Given the description of an element on the screen output the (x, y) to click on. 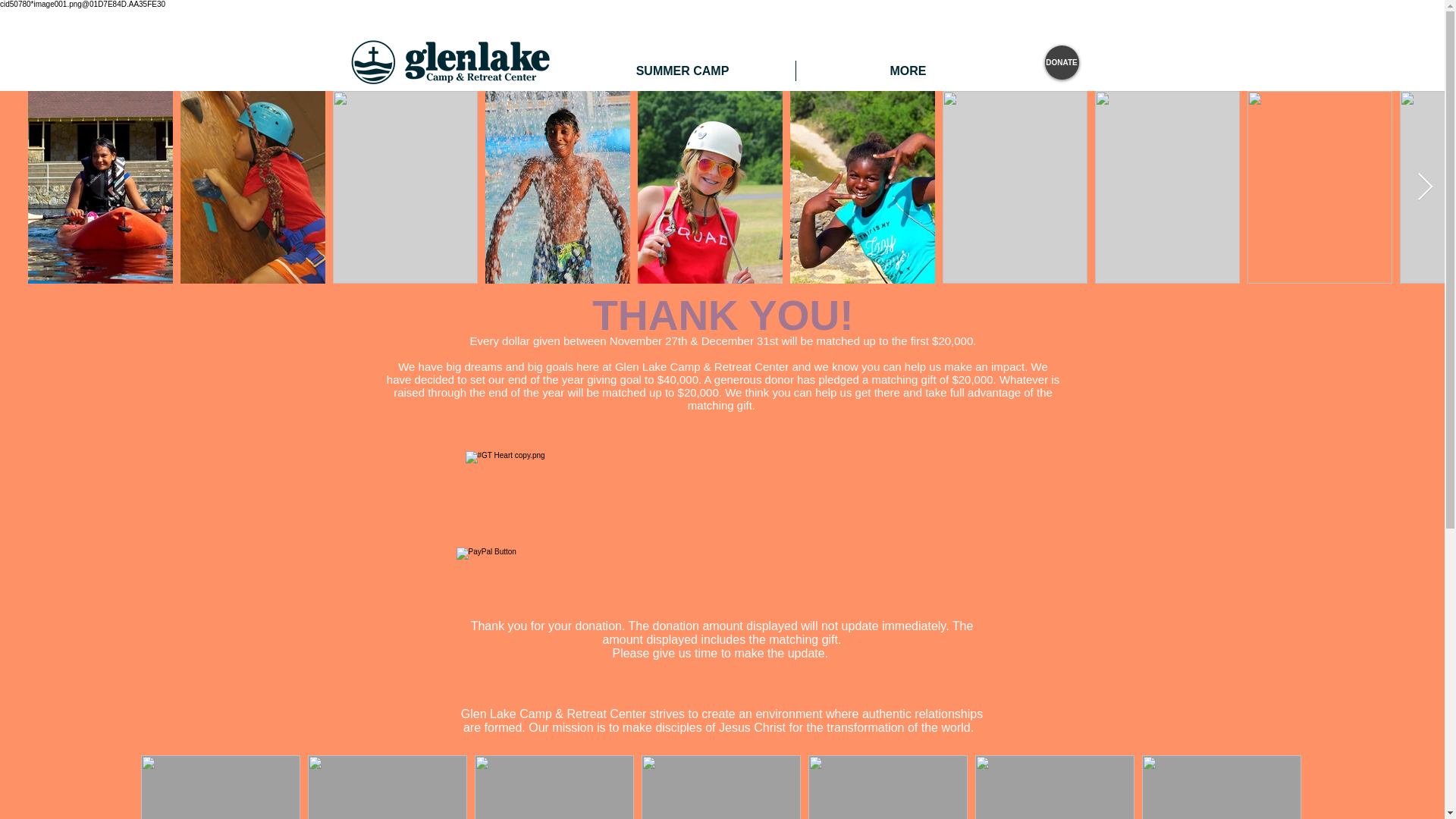
SUMMER CAMP (682, 70)
